Given the description of an element on the screen output the (x, y) to click on. 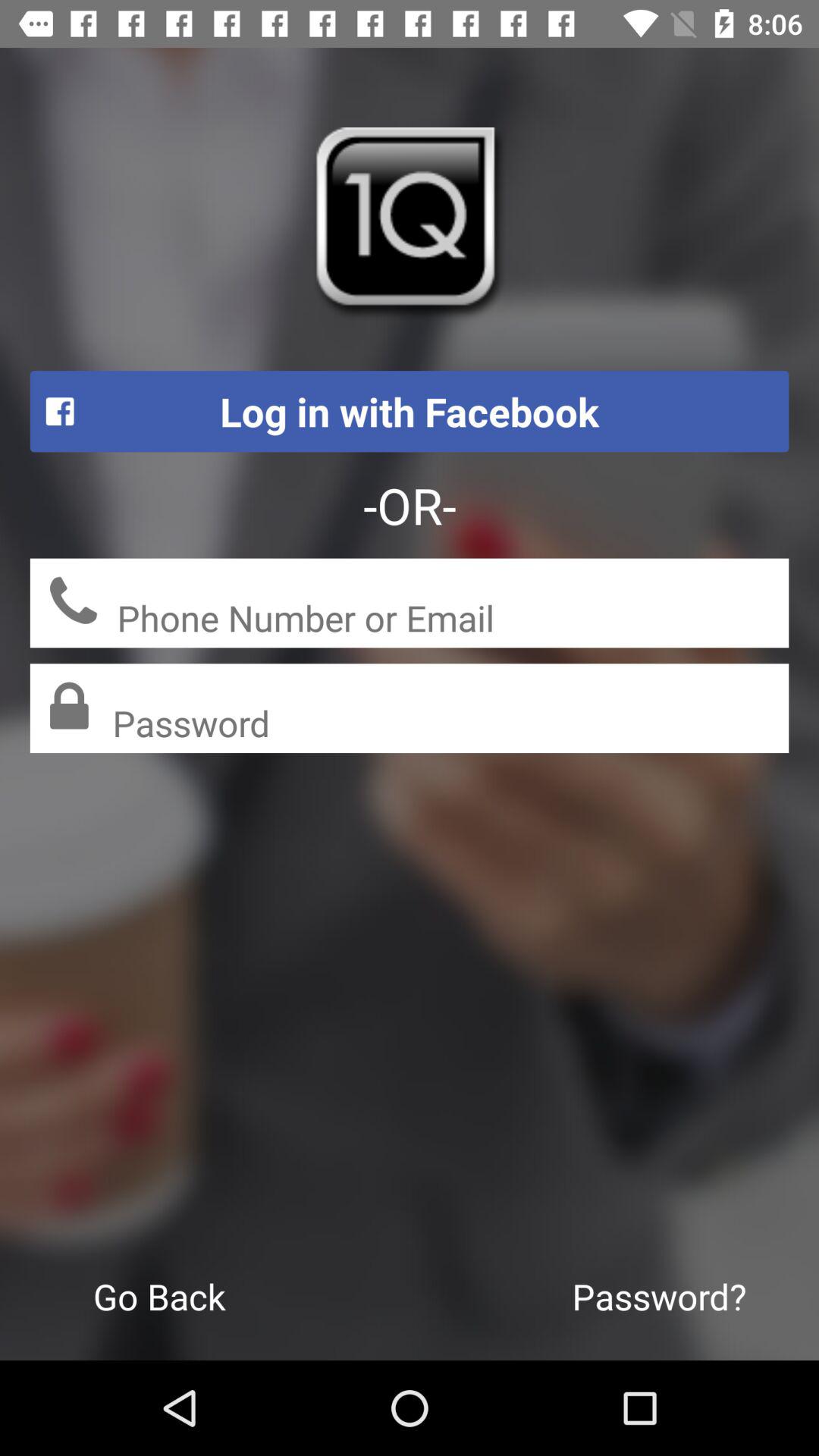
enter the phone number (452, 619)
